Given the description of an element on the screen output the (x, y) to click on. 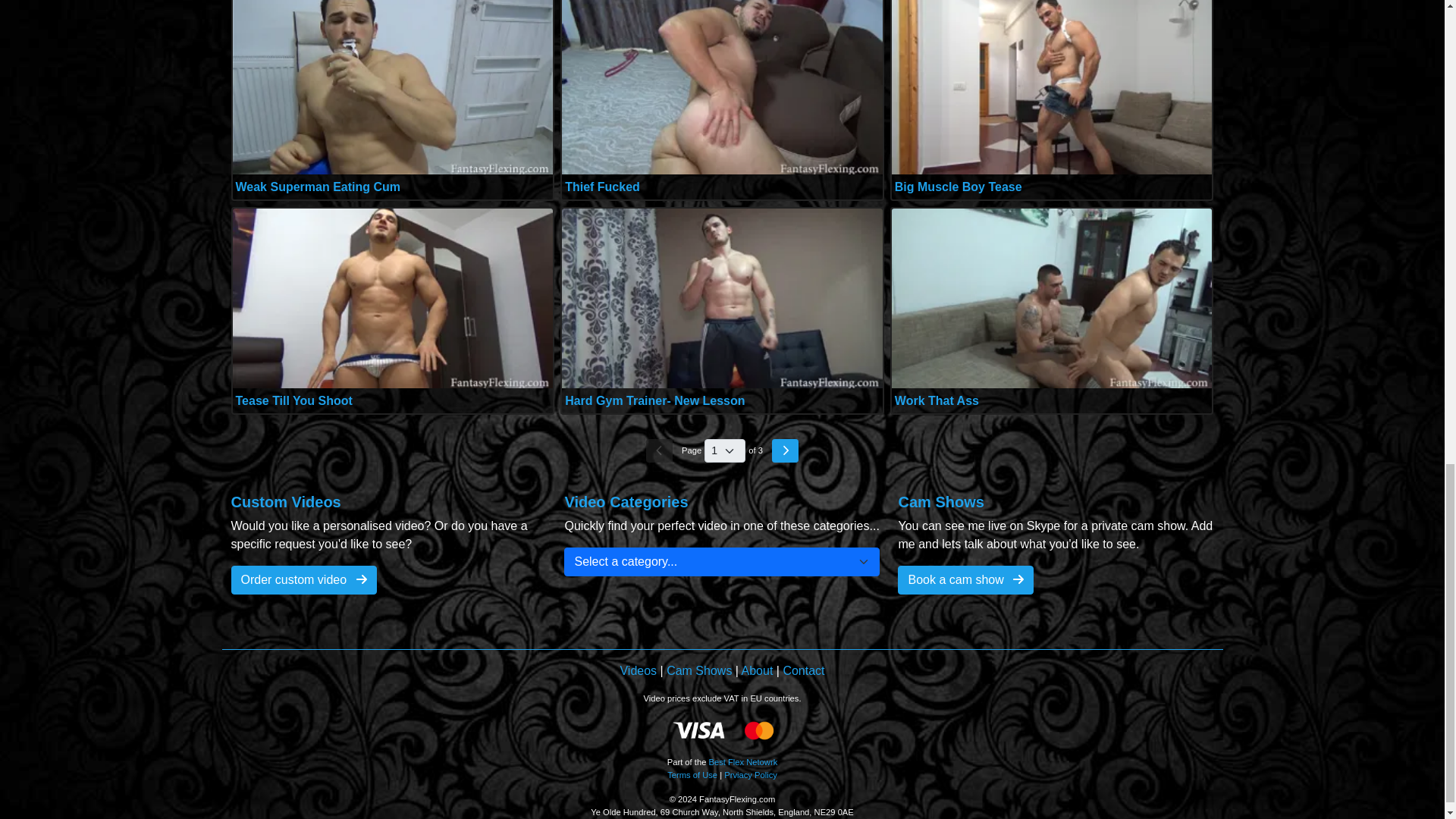
Big Muscle Boy Tease (958, 186)
Thief Fucked (602, 186)
Tease Till You Shoot (293, 400)
Weak Superman Eating Cum (317, 186)
